Given the description of an element on the screen output the (x, y) to click on. 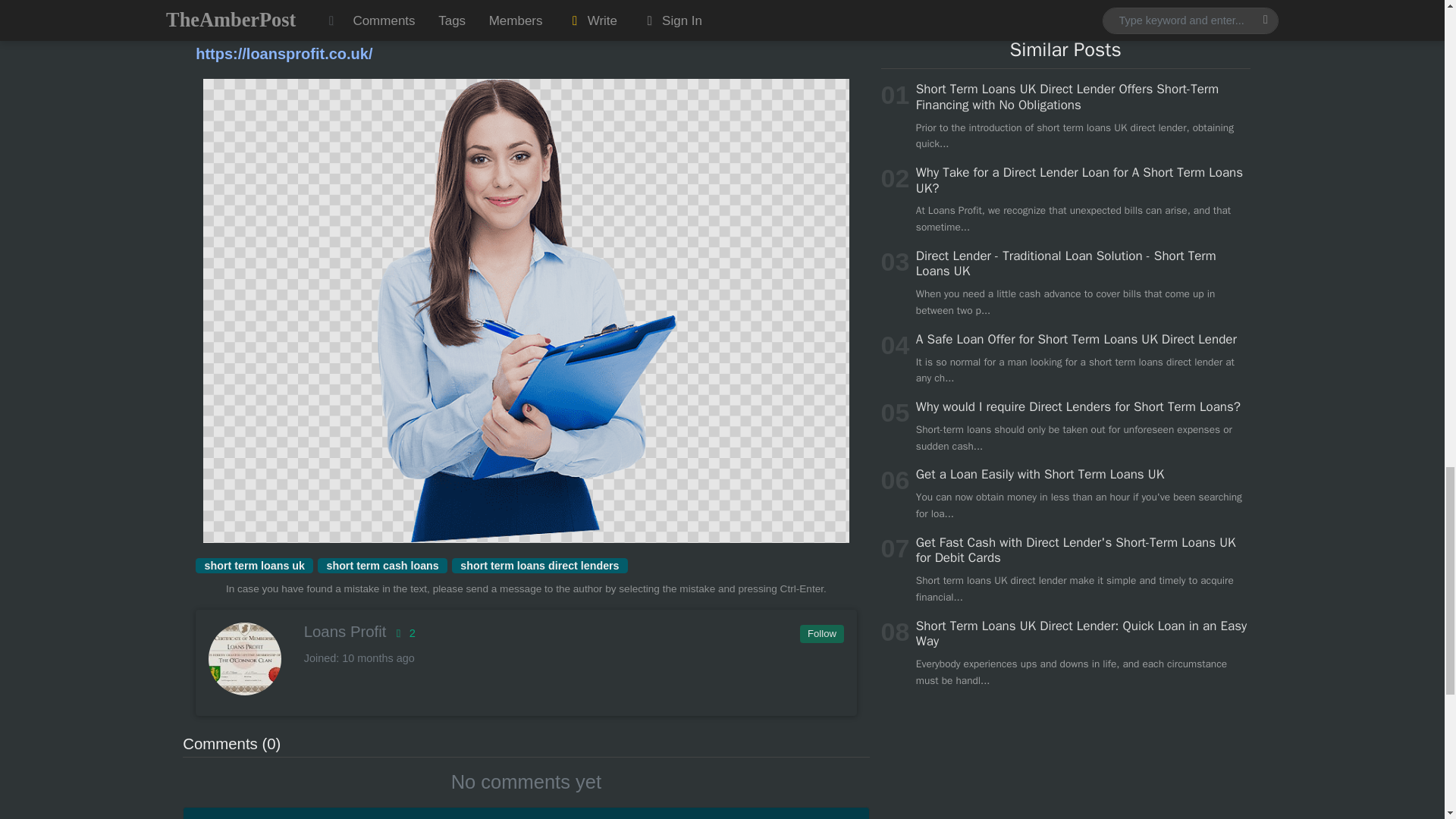
short term cash loans (381, 565)
short term loans uk (254, 565)
Follow (821, 633)
Rating (402, 633)
short term loans direct lenders (539, 565)
short term loans direct lenders (539, 565)
short term loans UK (349, 16)
short term cash loans (381, 565)
Loans Profit 2 (525, 631)
short term loans uk (254, 565)
